Given the description of an element on the screen output the (x, y) to click on. 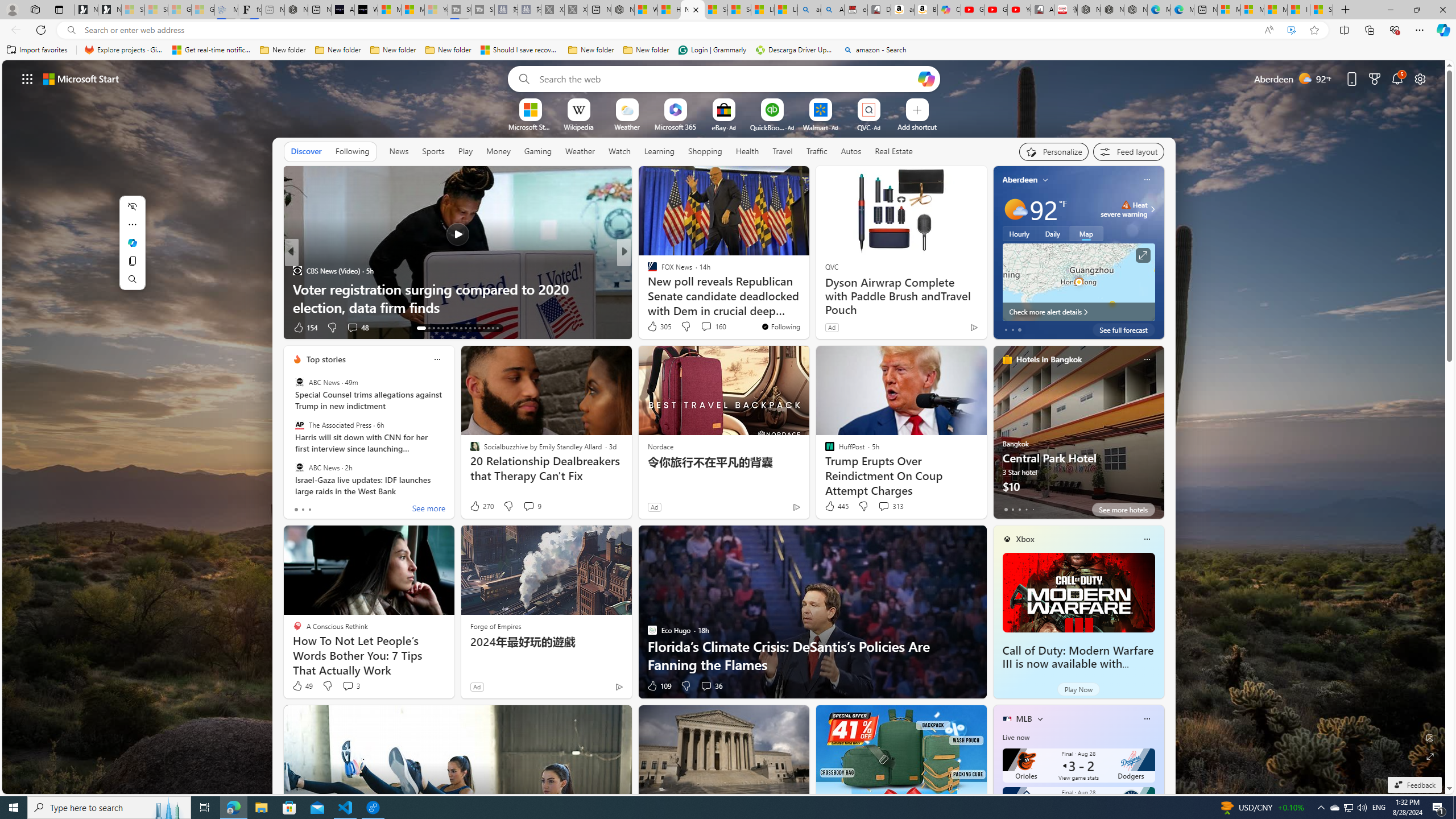
Start the conversation (702, 327)
Eat This, Not That! (647, 288)
AutomationID: tab-40 (483, 328)
Tab actions menu (58, 9)
ABC News (299, 466)
Wildlife - MSN (645, 9)
You're following FOX News (780, 326)
View comments 5 Comment (702, 327)
View comments 26 Comment (698, 327)
Lemon Impossible Pie - The Easiest Pie You'll Ever Make! (807, 298)
previous (998, 252)
